Given the description of an element on the screen output the (x, y) to click on. 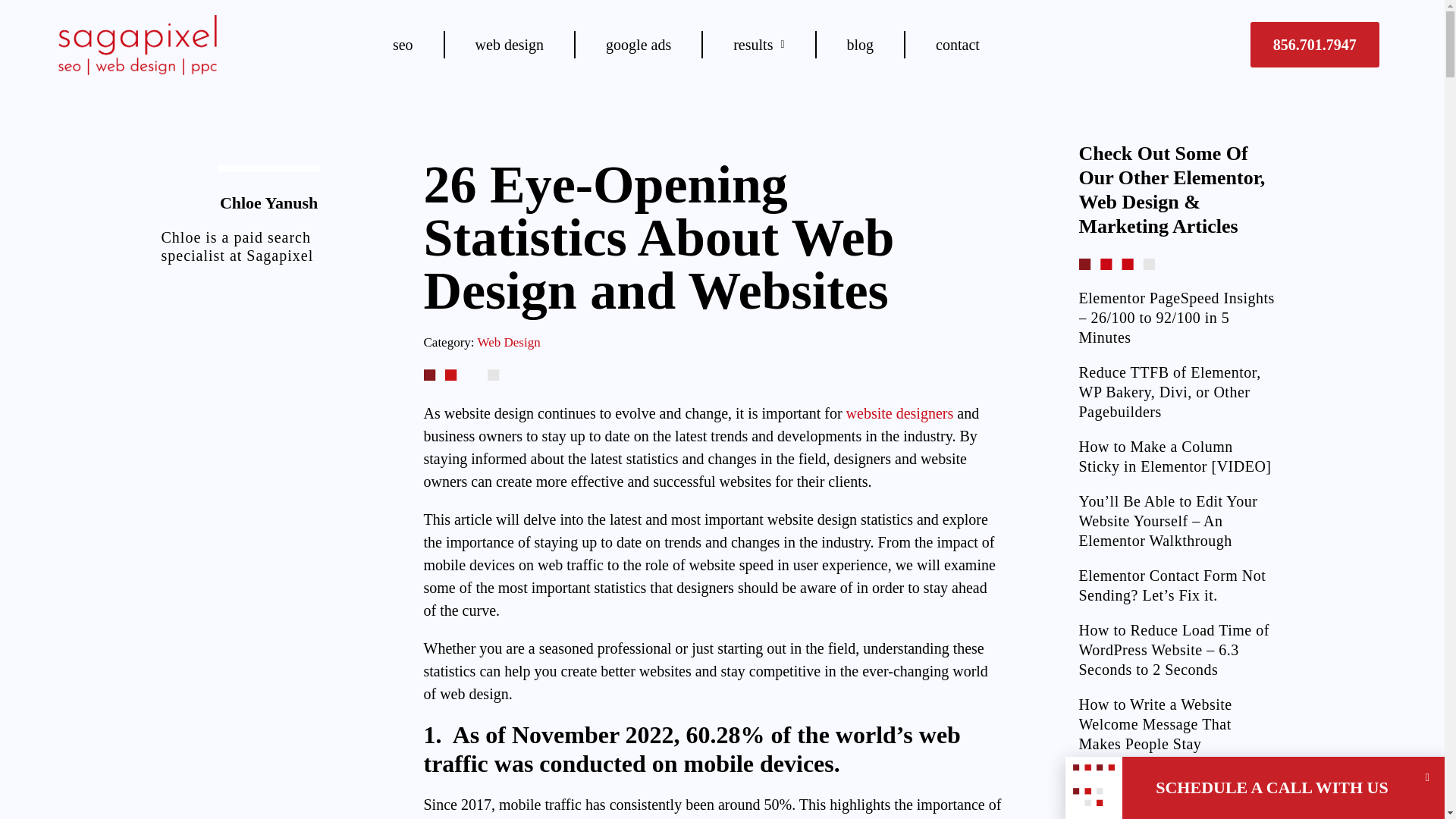
blog (860, 44)
856.701.7947 (1314, 44)
Web Design (508, 341)
seo (402, 44)
web design (509, 44)
google ads (638, 44)
contact (957, 44)
results (758, 44)
